Given the description of an element on the screen output the (x, y) to click on. 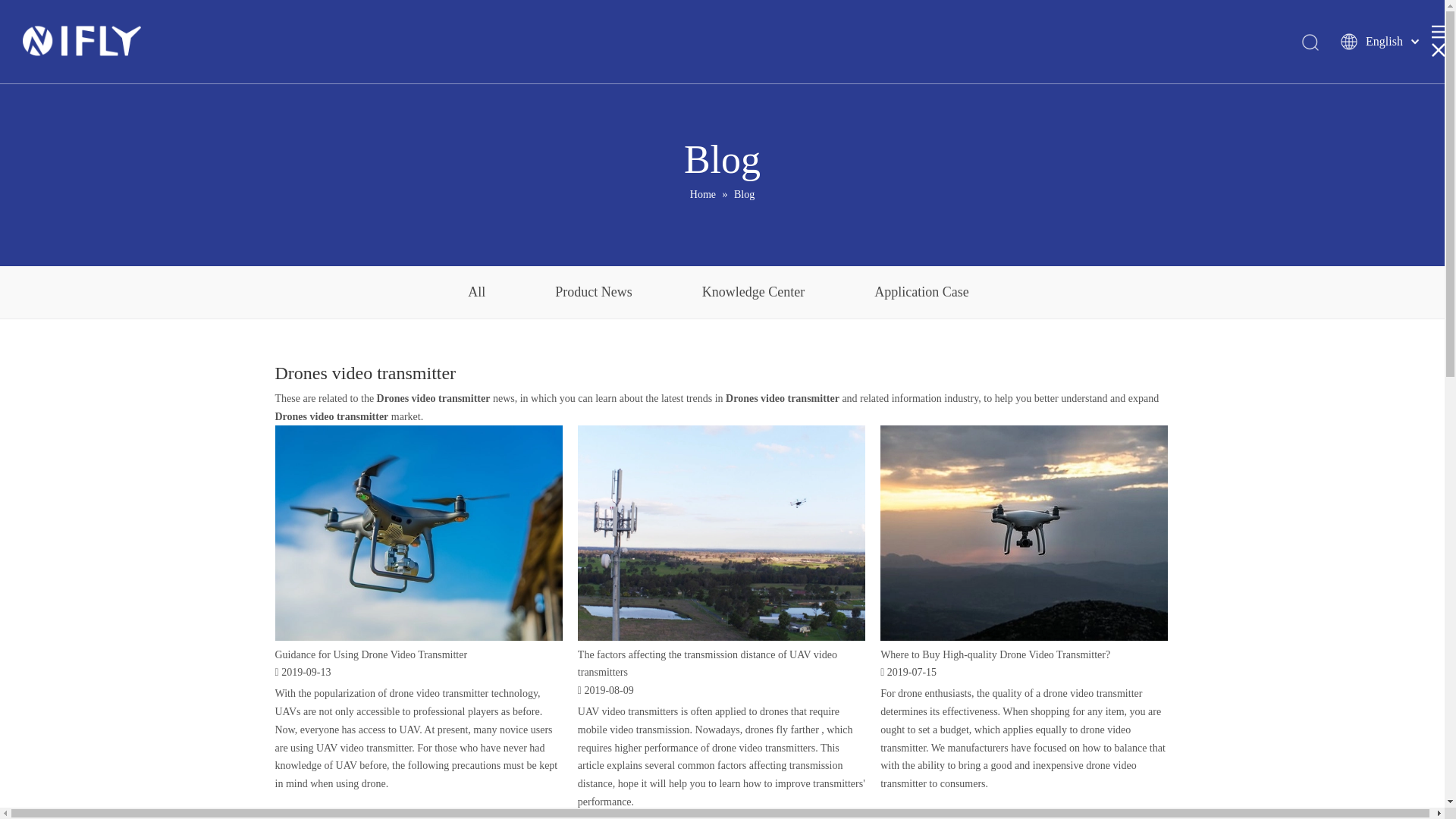
Guidance for Using Drone Video Transmitter (371, 654)
Application Case (920, 292)
Application Case (920, 292)
Knowledge Center (753, 292)
Product News (593, 292)
Where to Buy High-quality Drone Video Transmitter? (994, 654)
All (476, 292)
All (476, 292)
